Given the description of an element on the screen output the (x, y) to click on. 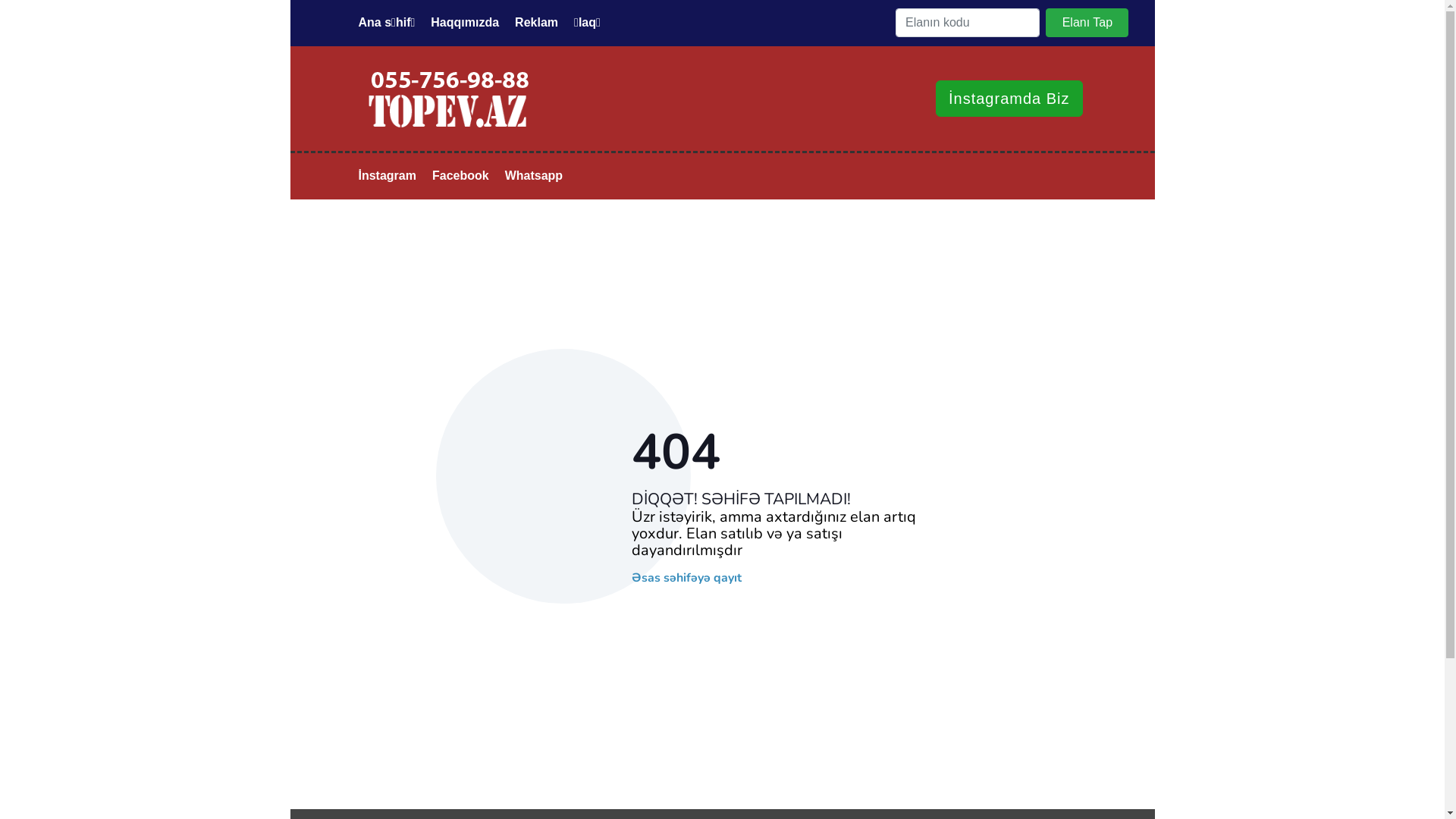
Whatsapp Element type: text (533, 176)
Facebook Element type: text (460, 176)
Reklam Element type: text (536, 23)
